Given the description of an element on the screen output the (x, y) to click on. 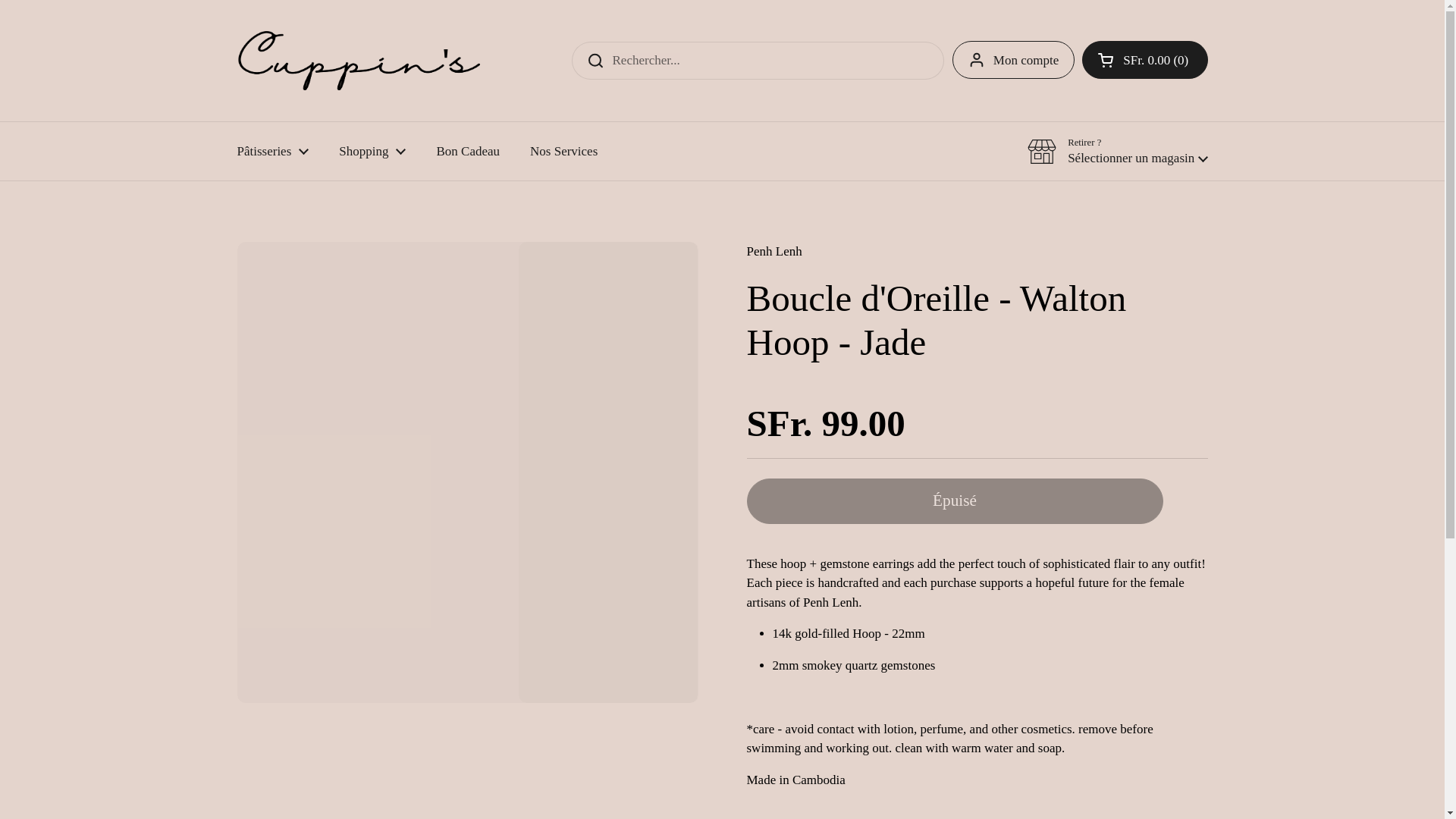
Mon compte (1013, 59)
Nos Services (563, 150)
Shopping (371, 150)
Shopping (371, 150)
Cuppin's (1144, 59)
Bon Cadeau (357, 60)
Passer au contenu (467, 150)
